Given the description of an element on the screen output the (x, y) to click on. 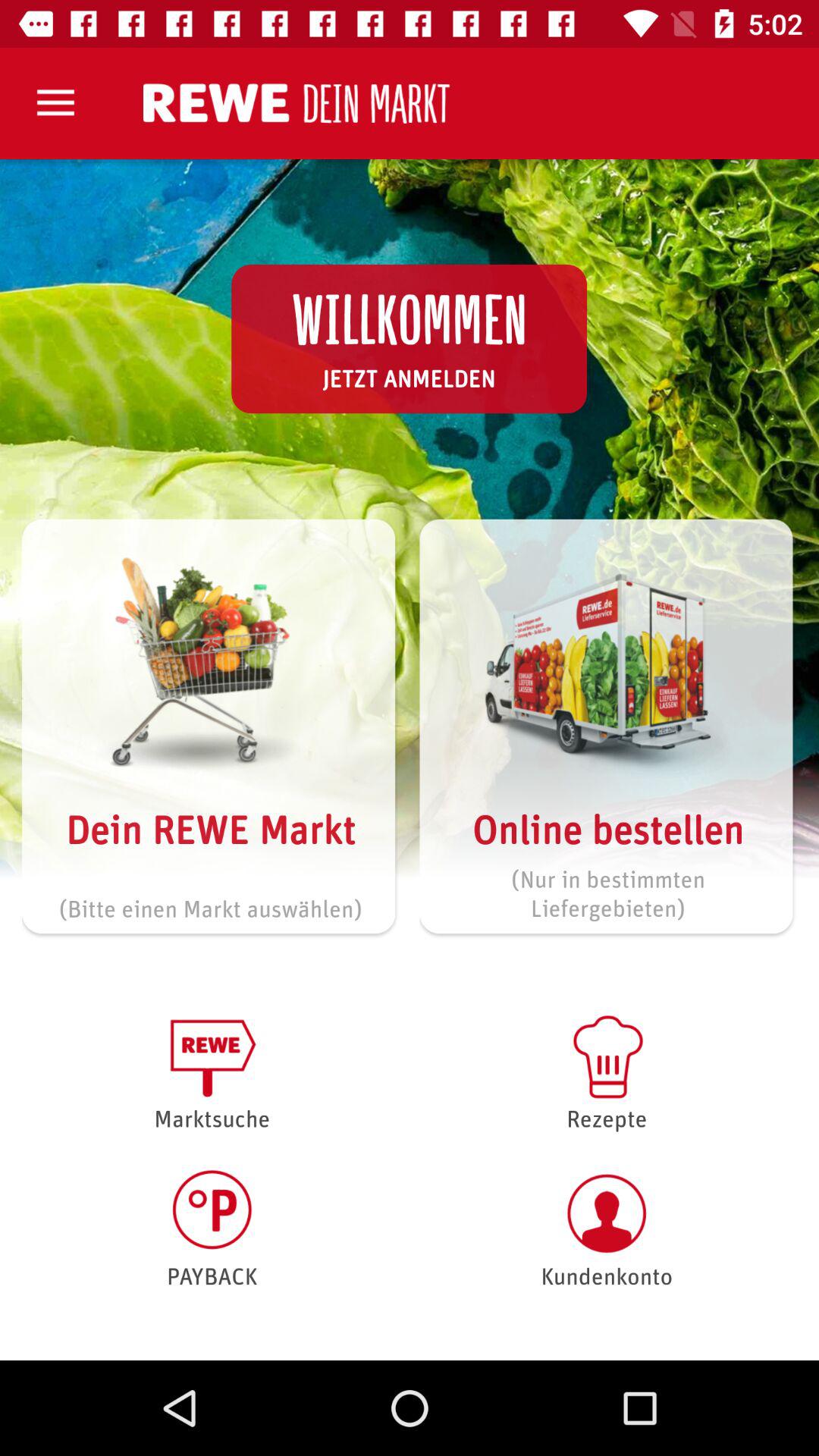
turn off the item at the top left corner (55, 103)
